Given the description of an element on the screen output the (x, y) to click on. 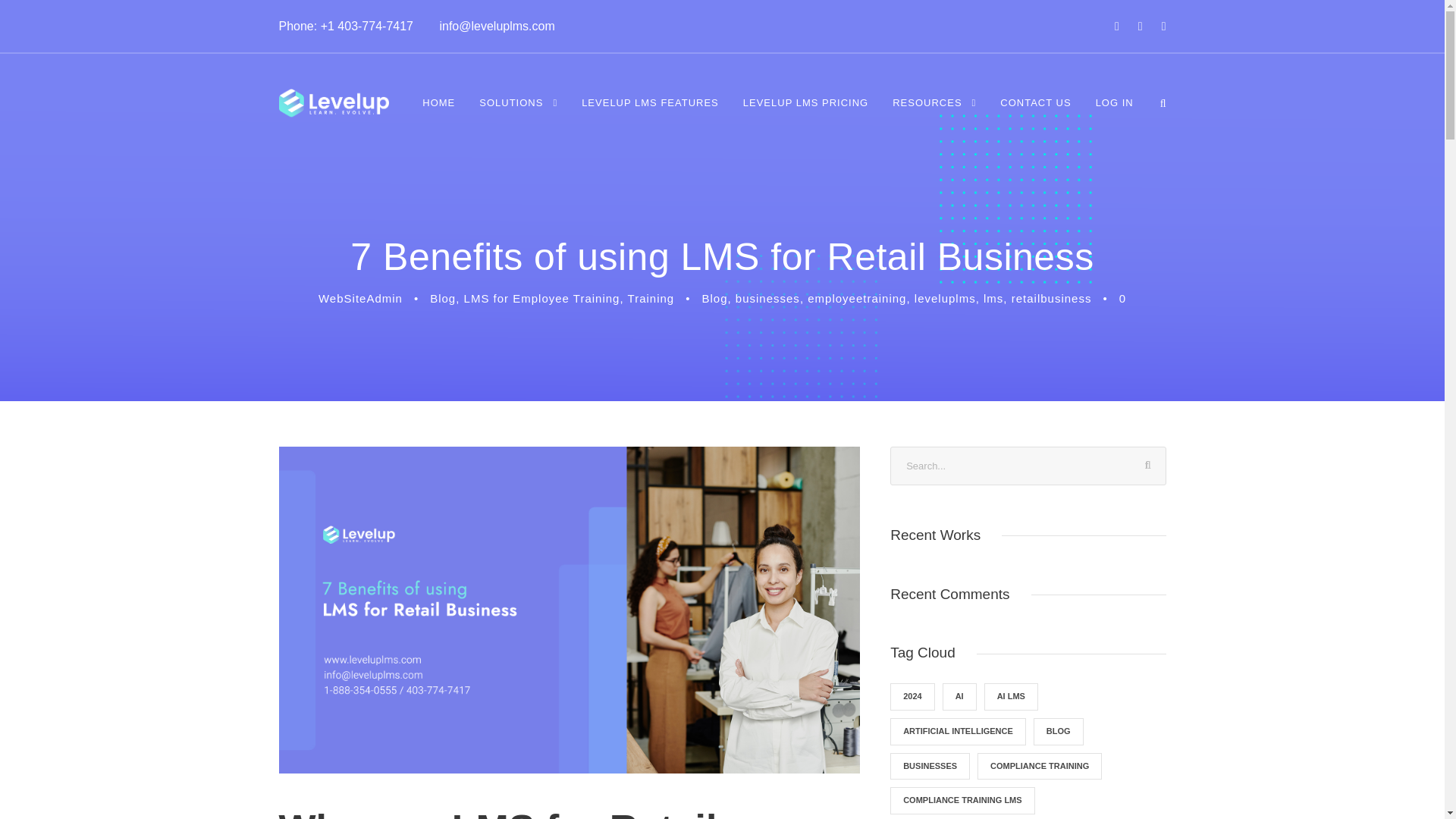
lms (993, 297)
RESOURCES (933, 113)
employeetraining (856, 297)
CONTACT US (1035, 113)
leveluplms (944, 297)
Blog (713, 297)
LEVELUP LMS FEATURES (649, 113)
LEVELUP LMS PRICING (804, 113)
retailbusiness (1051, 297)
businesses (767, 297)
Levelup LMS Logo White (333, 102)
Blog (442, 297)
Training (651, 297)
LMS for Employee Training (542, 297)
